Given the description of an element on the screen output the (x, y) to click on. 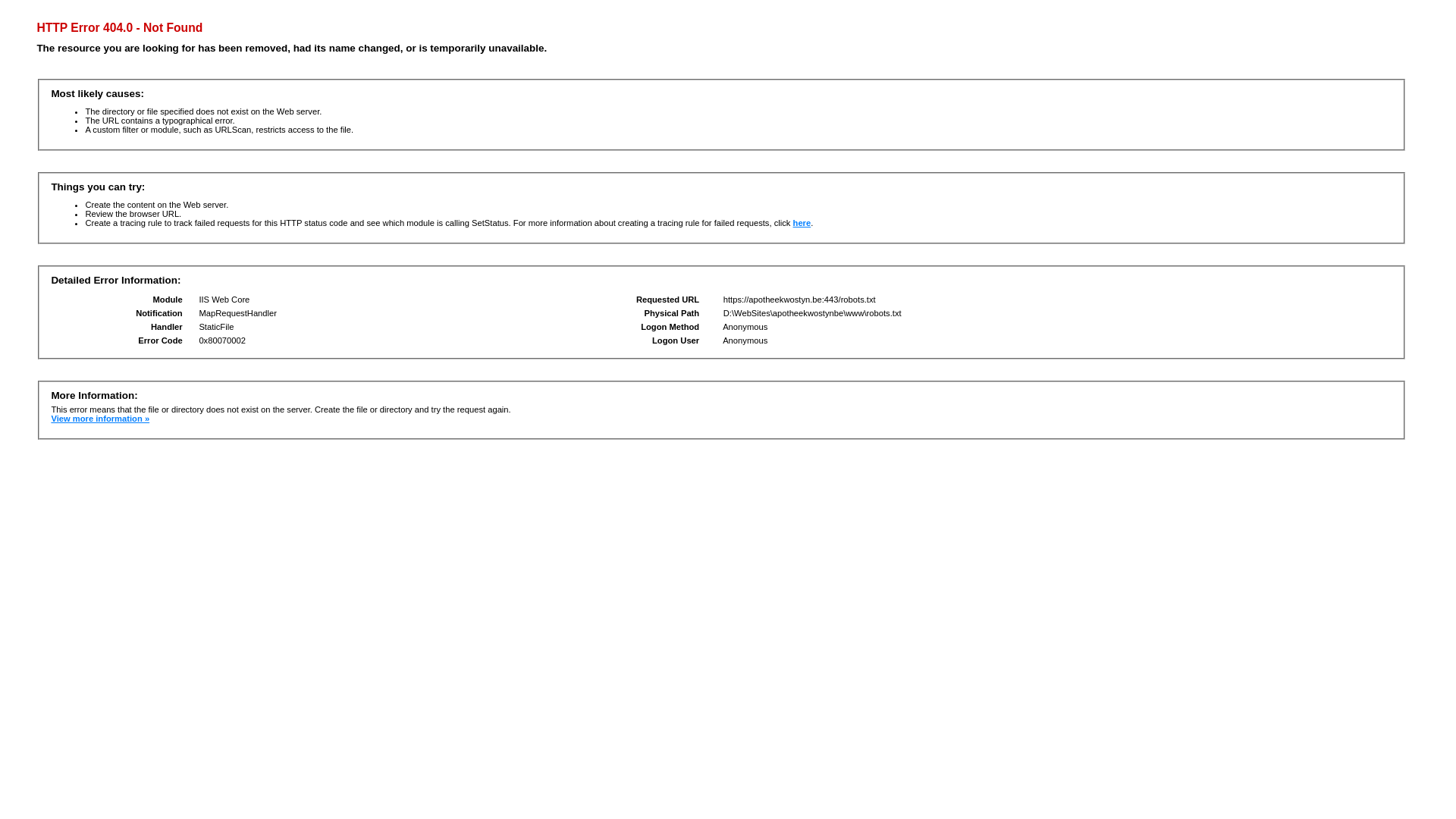
here Element type: text (802, 222)
